Given the description of an element on the screen output the (x, y) to click on. 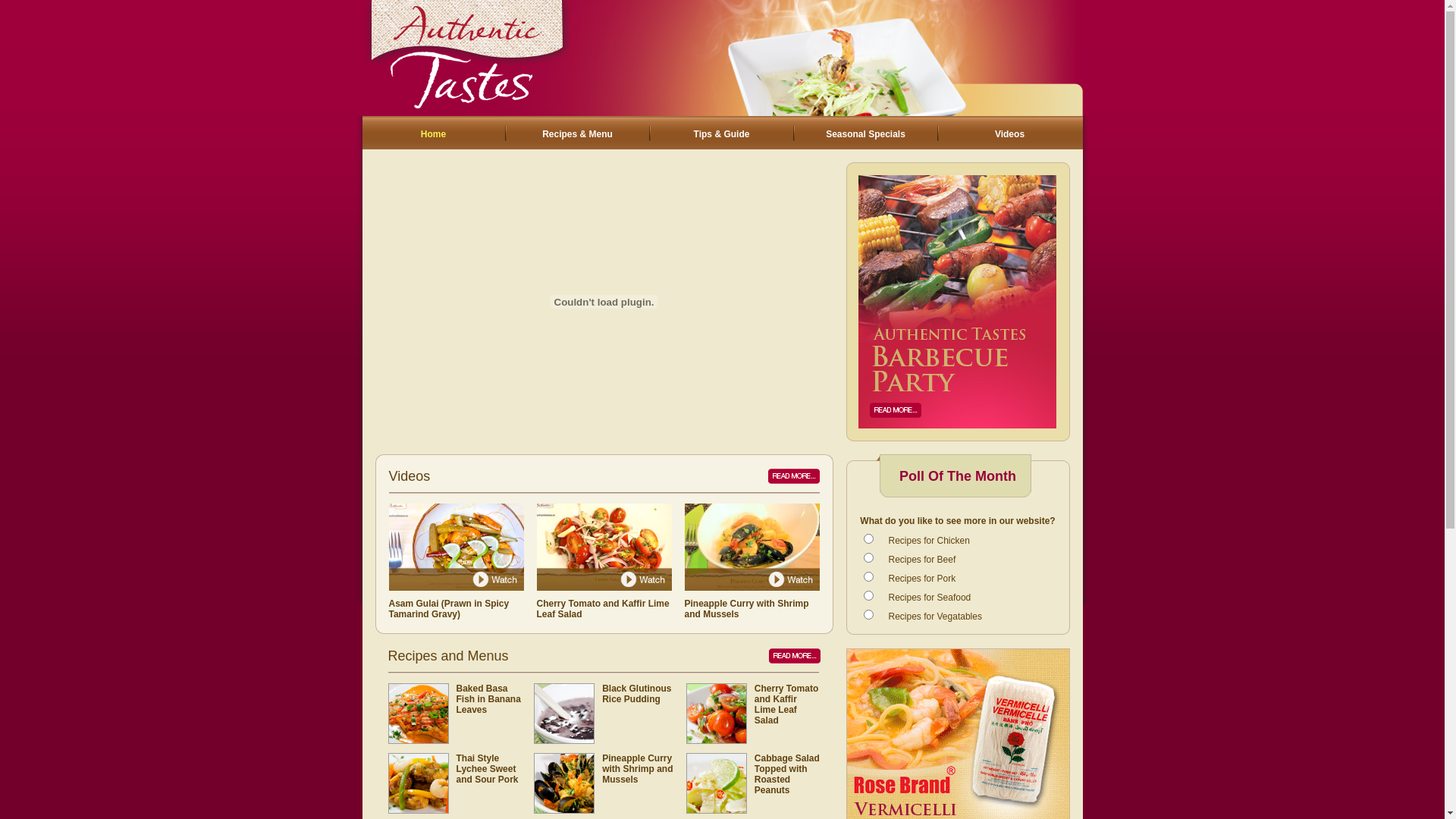
Baked Basa Fish in Banana Leaves Element type: text (488, 699)
3 Element type: text (867, 595)
2 Element type: text (867, 576)
Seasonal Specials Element type: text (865, 134)
Home Element type: text (433, 134)
Cabbage Salad Topped with Roasted Peanuts Element type: text (786, 774)
Pineapple Curry with Shrimp and Mussels Element type: text (637, 768)
Recipes & Menu Element type: text (577, 134)
Thai Style Lychee Sweet and Sour Pork Element type: text (487, 768)
Cherry Tomato and Kaffir Lime Leaf Salad Element type: text (786, 704)
4 Element type: text (867, 614)
1 Element type: text (867, 557)
Black Glutinous Rice Pudding Element type: text (636, 693)
Tips & Guide Element type: text (721, 134)
0 Element type: text (867, 538)
Videos Element type: text (1009, 134)
